Given the description of an element on the screen output the (x, y) to click on. 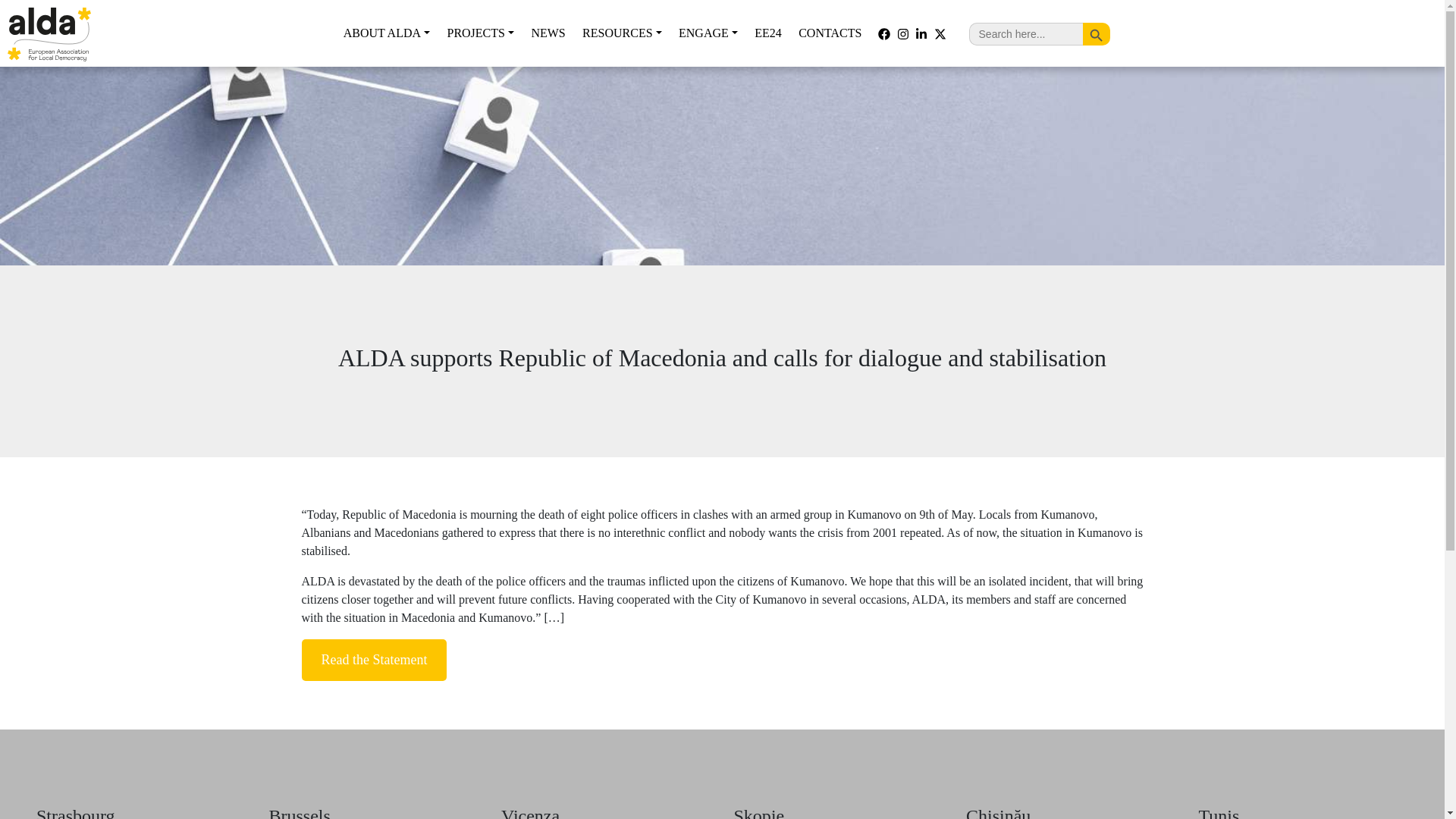
ENGAGE (707, 33)
ABOUT ALDA (386, 33)
CONTACTS (830, 33)
Search Button (1096, 33)
RESOURCES (621, 33)
Read the Statement (373, 659)
PROJECTS (480, 33)
